Given the description of an element on the screen output the (x, y) to click on. 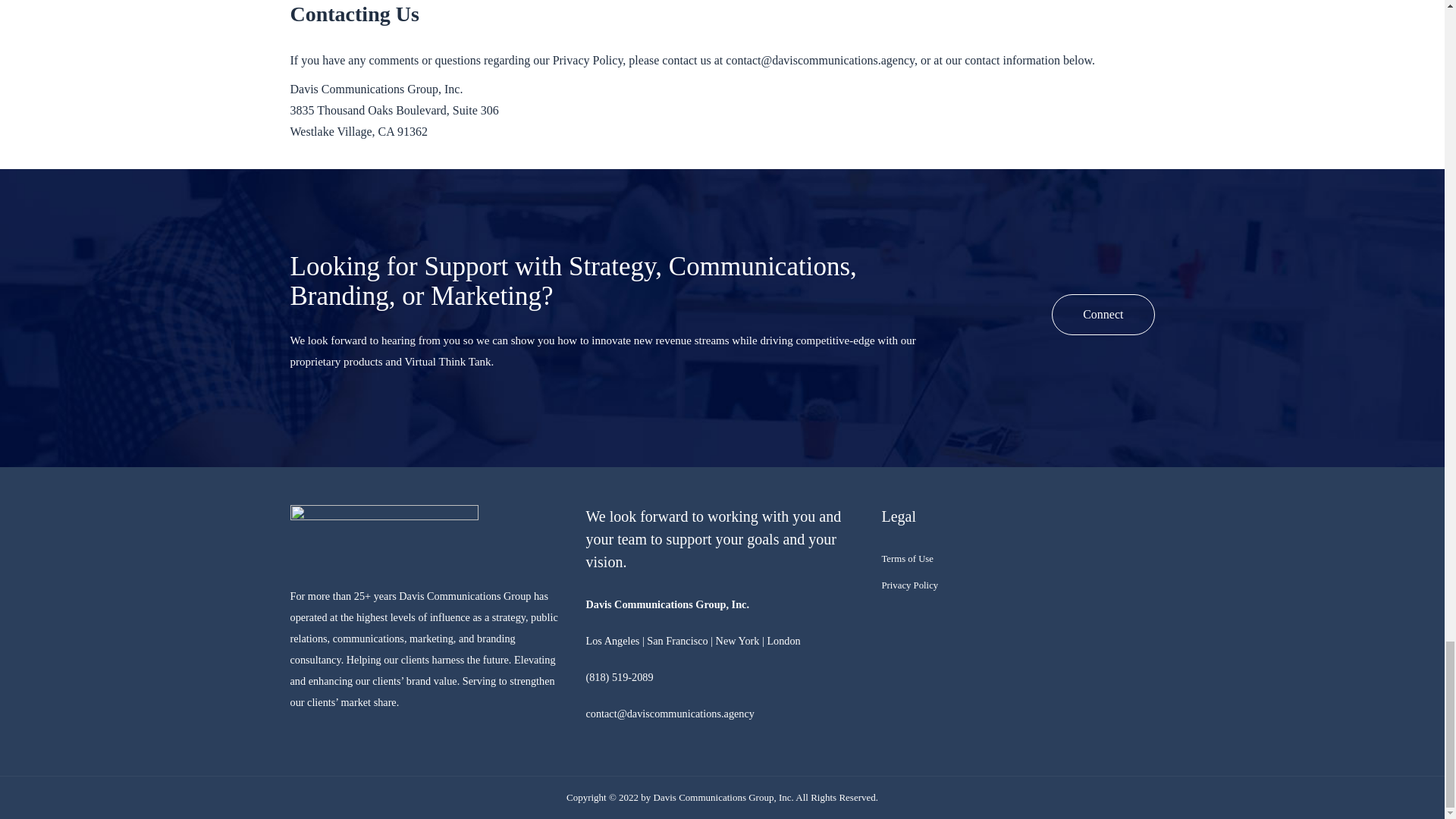
Privacy Policy (908, 584)
Connect (1102, 314)
Terms of Use (906, 558)
Contact (1102, 314)
